Given the description of an element on the screen output the (x, y) to click on. 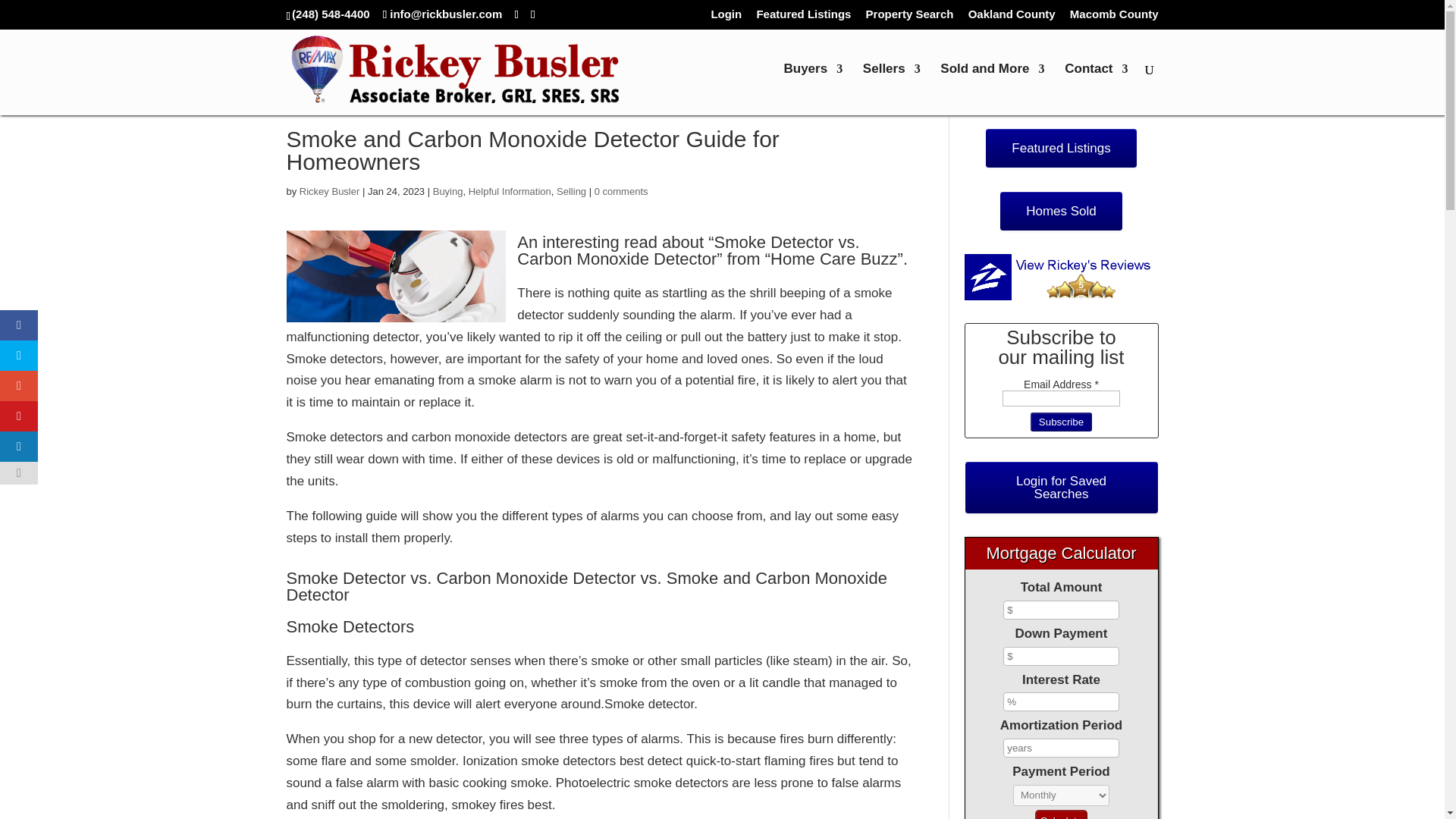
Property Search (909, 17)
Posts by Rickey Busler (329, 191)
Login (725, 17)
5 Star Agent on Zillow (1060, 276)
Contact (1095, 89)
Macomb County (1114, 17)
Oakland County (1011, 17)
Featured Listings (802, 17)
Calculate (1061, 814)
Buyers (813, 89)
